Given the description of an element on the screen output the (x, y) to click on. 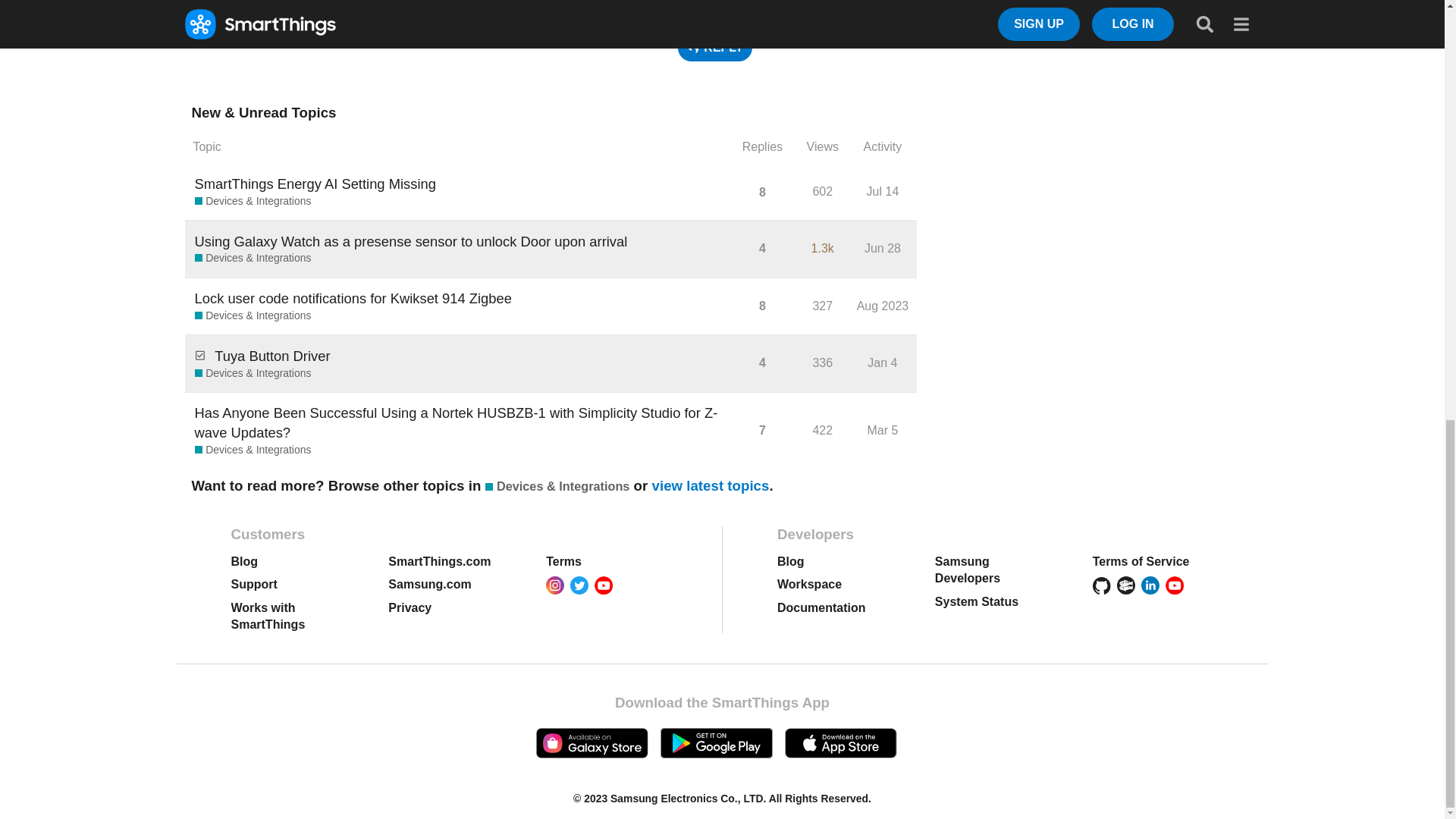
Jun 28 (882, 247)
SmartThings Energy AI Setting Missing (315, 183)
Lock user code notifications for Kwikset 914 Zigbee (353, 298)
Jul 14 (882, 191)
REPLY (715, 47)
